Given the description of an element on the screen output the (x, y) to click on. 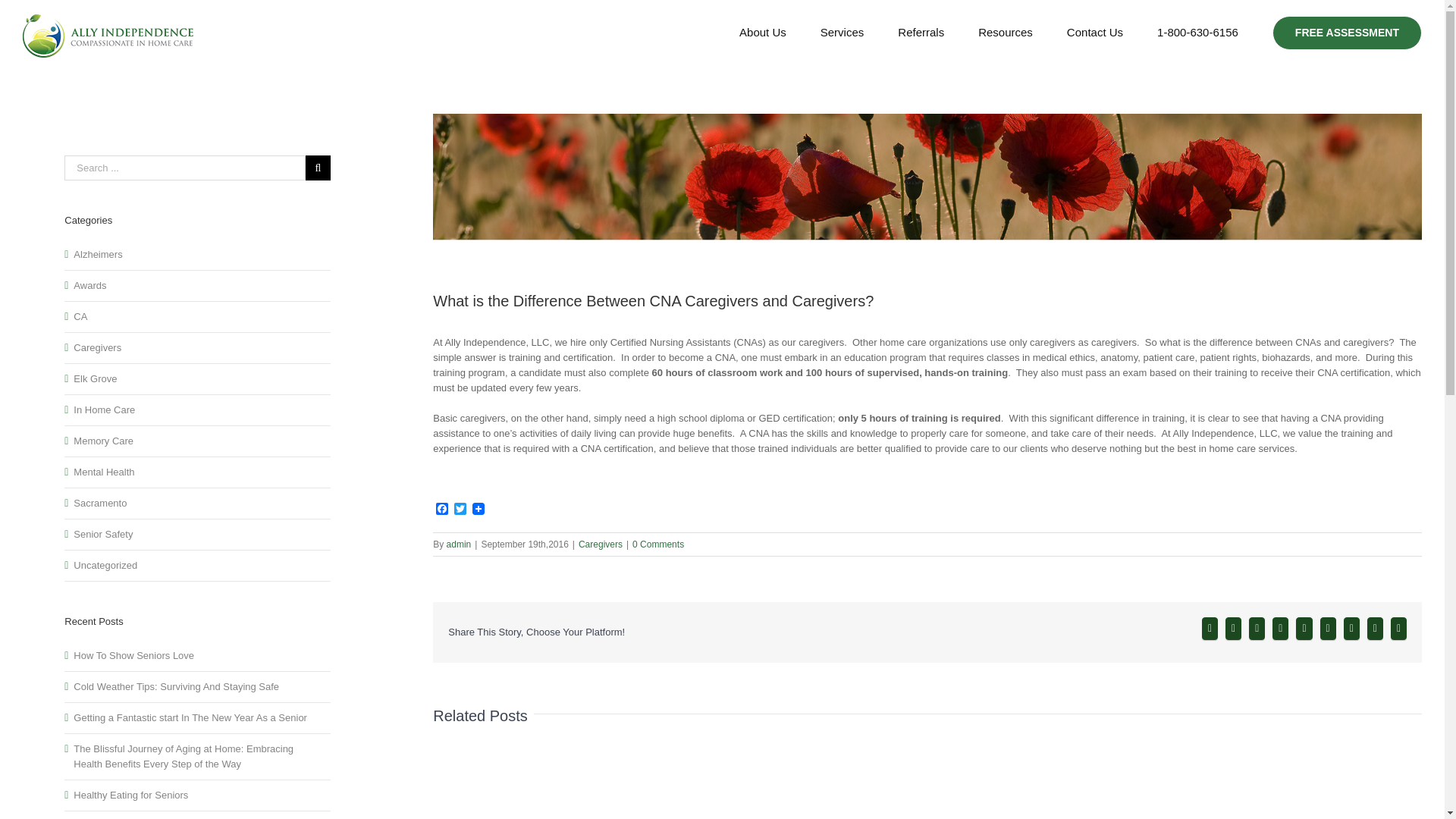
Caregivers (600, 543)
Twitter (459, 509)
0 Comments (657, 543)
1-800-630-6156 (1198, 31)
Facebook (441, 509)
Facebook (441, 509)
Posts by admin (458, 543)
admin (458, 543)
Twitter (459, 509)
FREE ASSESSMENT (1347, 31)
